Given the description of an element on the screen output the (x, y) to click on. 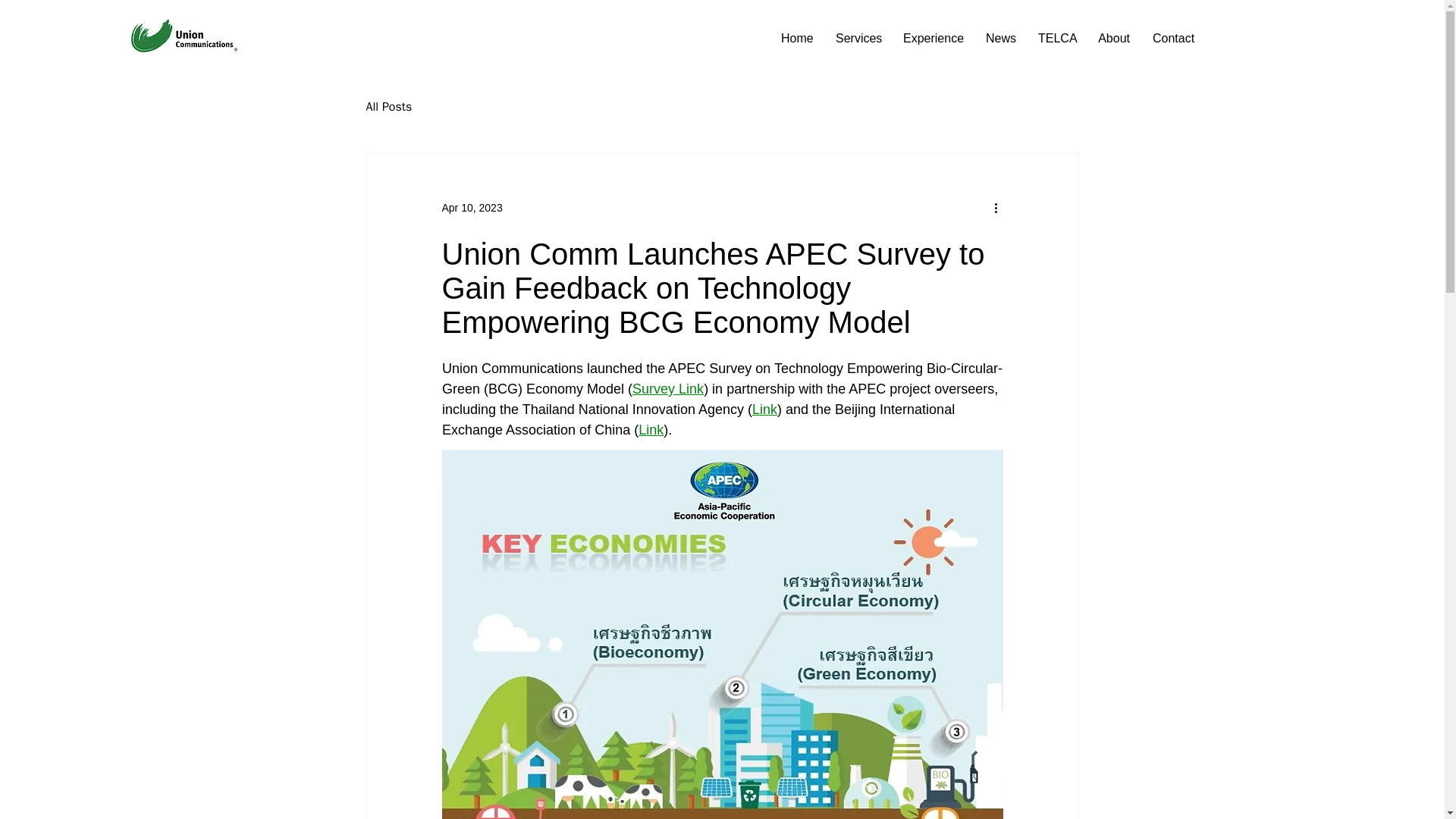
Contact (1173, 37)
About (1113, 37)
Services (857, 37)
TELCA (1056, 37)
Apr 10, 2023 (471, 207)
Home (797, 37)
Survey Link (667, 388)
All Posts (388, 106)
News (1000, 37)
Experience (932, 37)
Link (651, 429)
Link (763, 409)
